Given the description of an element on the screen output the (x, y) to click on. 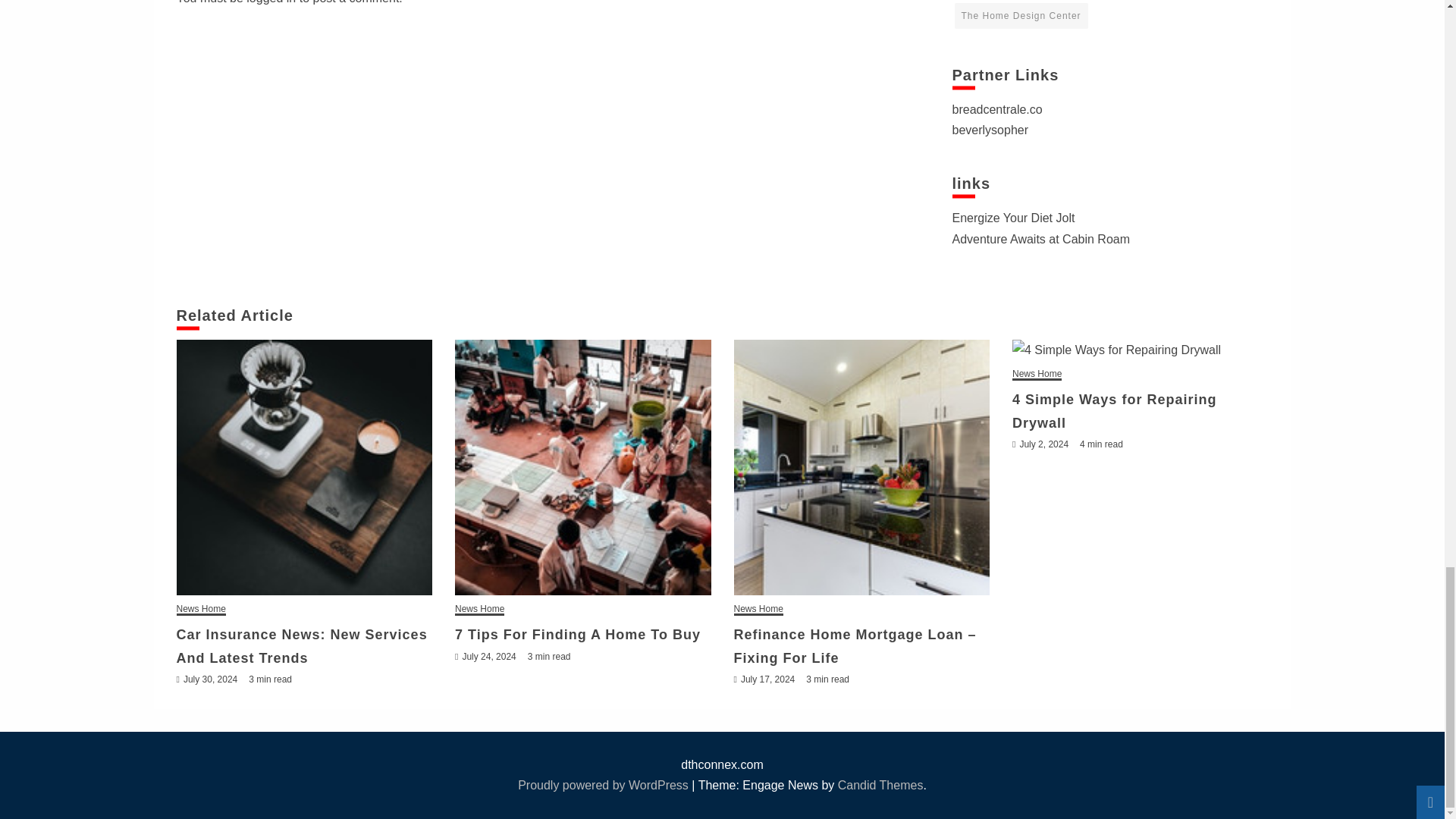
7 Tips For Finding A Home To Buy (582, 467)
Car Insurance News: New Services And Latest Trends (304, 467)
4 Simple Ways for Repairing Drywall (1139, 349)
